Given the description of an element on the screen output the (x, y) to click on. 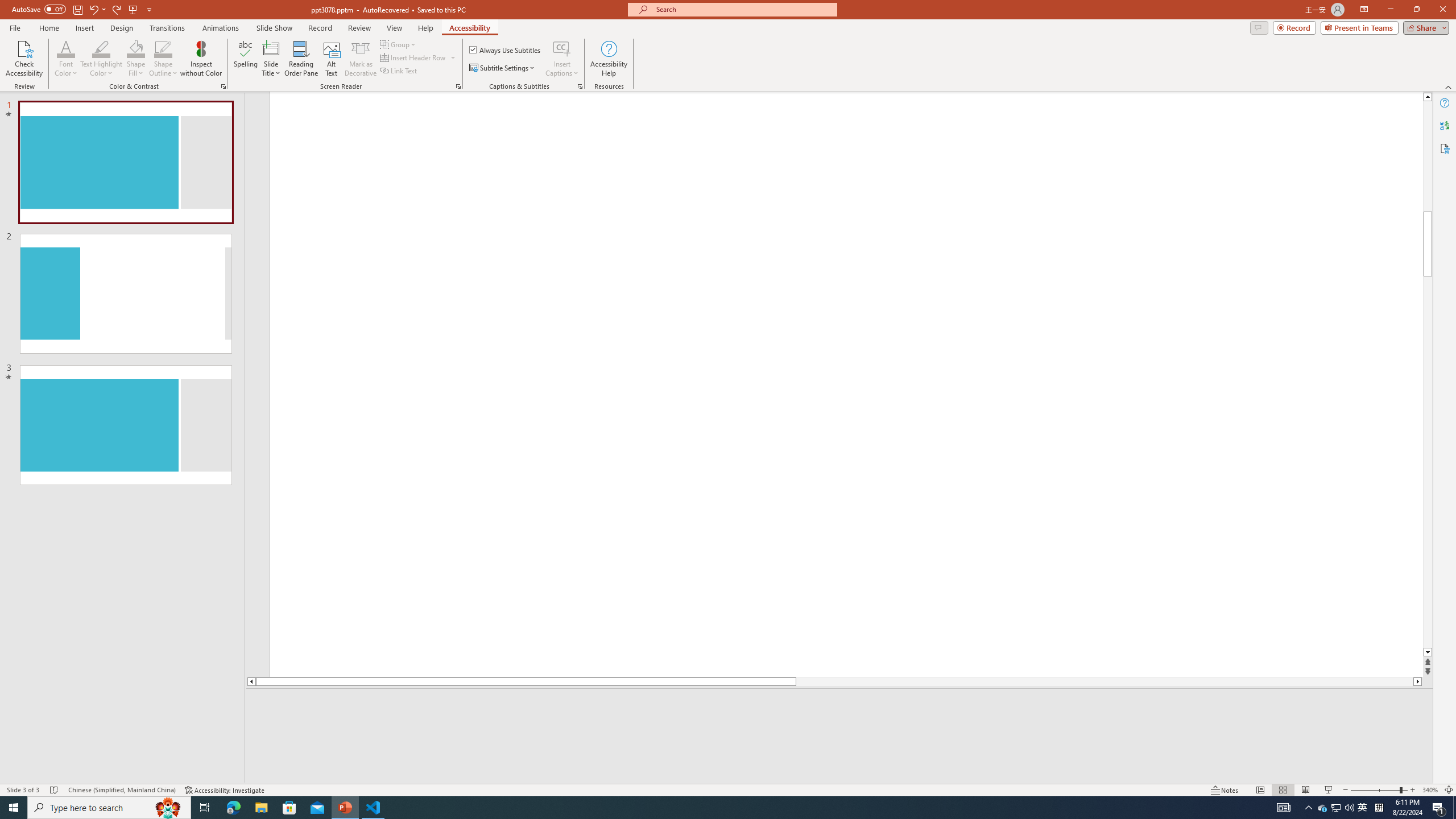
Always Use Subtitles (505, 49)
